Given the description of an element on the screen output the (x, y) to click on. 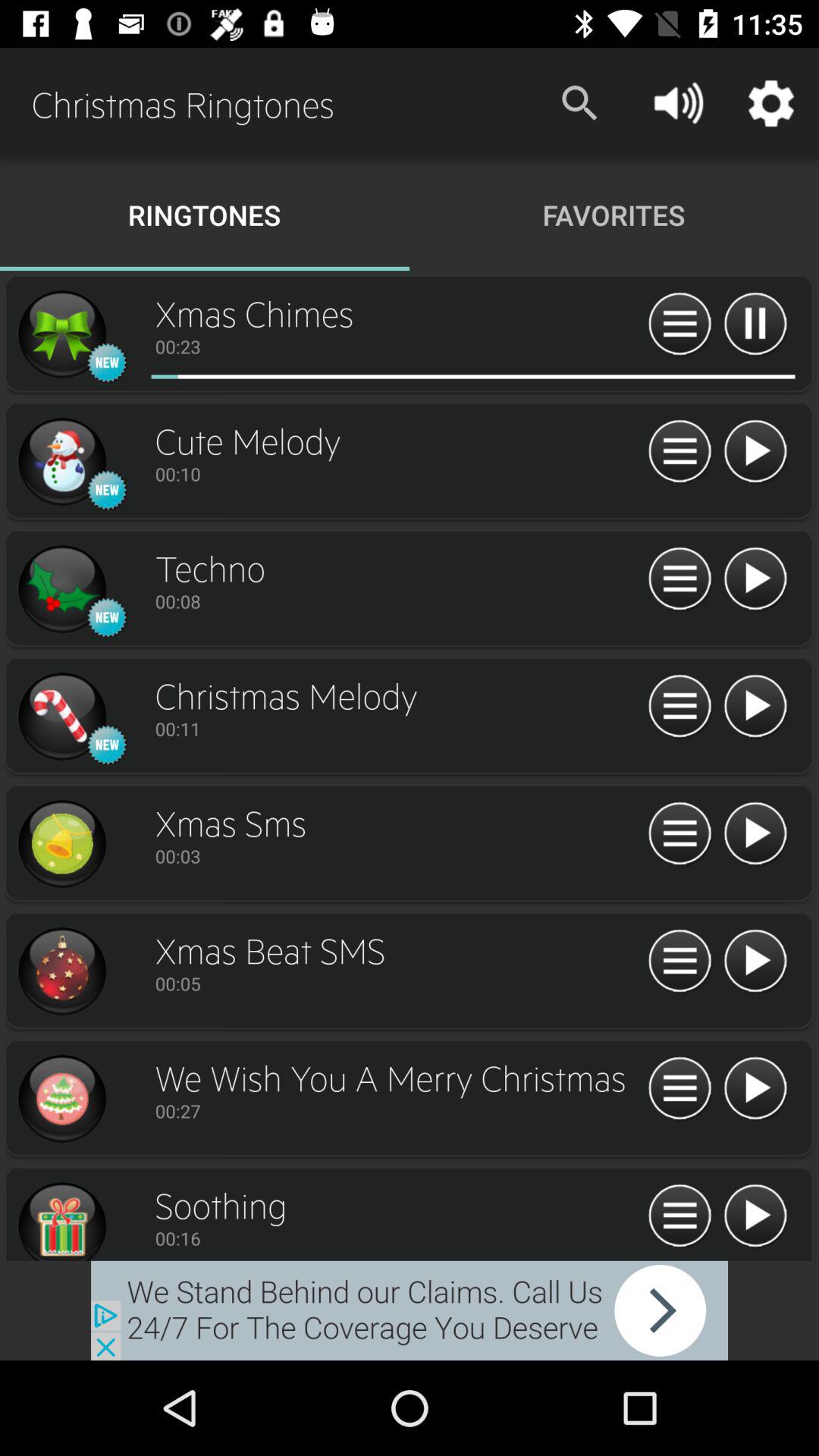
see image (61, 334)
